Given the description of an element on the screen output the (x, y) to click on. 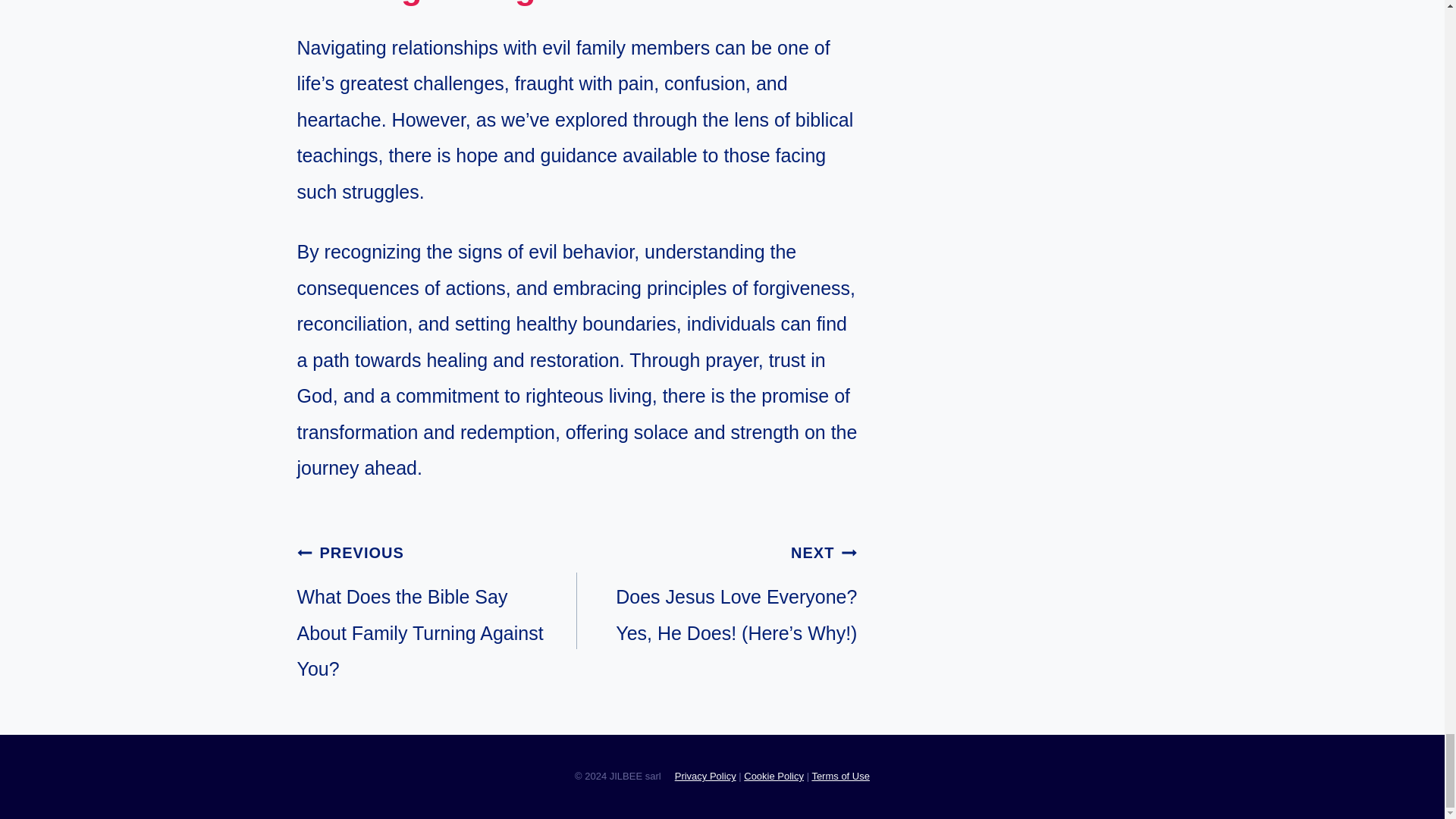
Privacy Policy (705, 776)
Cookie Policy (773, 776)
Terms of Use (839, 776)
